Given the description of an element on the screen output the (x, y) to click on. 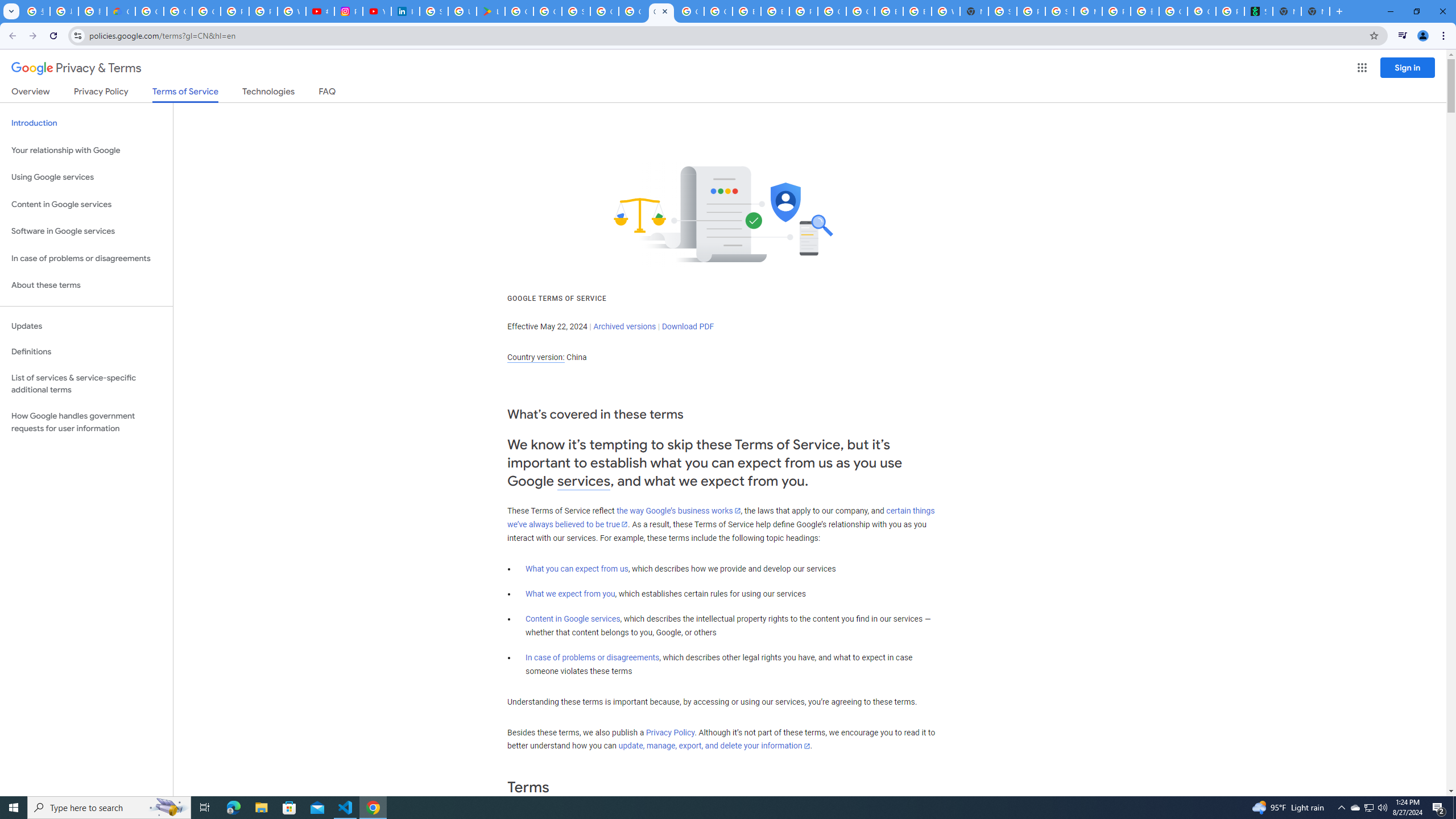
Using Google services (86, 176)
Browse Chrome as a guest - Computer - Google Chrome Help (888, 11)
How Google handles government requests for user information (86, 422)
Google Cloud Platform (860, 11)
New Tab (1315, 11)
About these terms (86, 284)
